Given the description of an element on the screen output the (x, y) to click on. 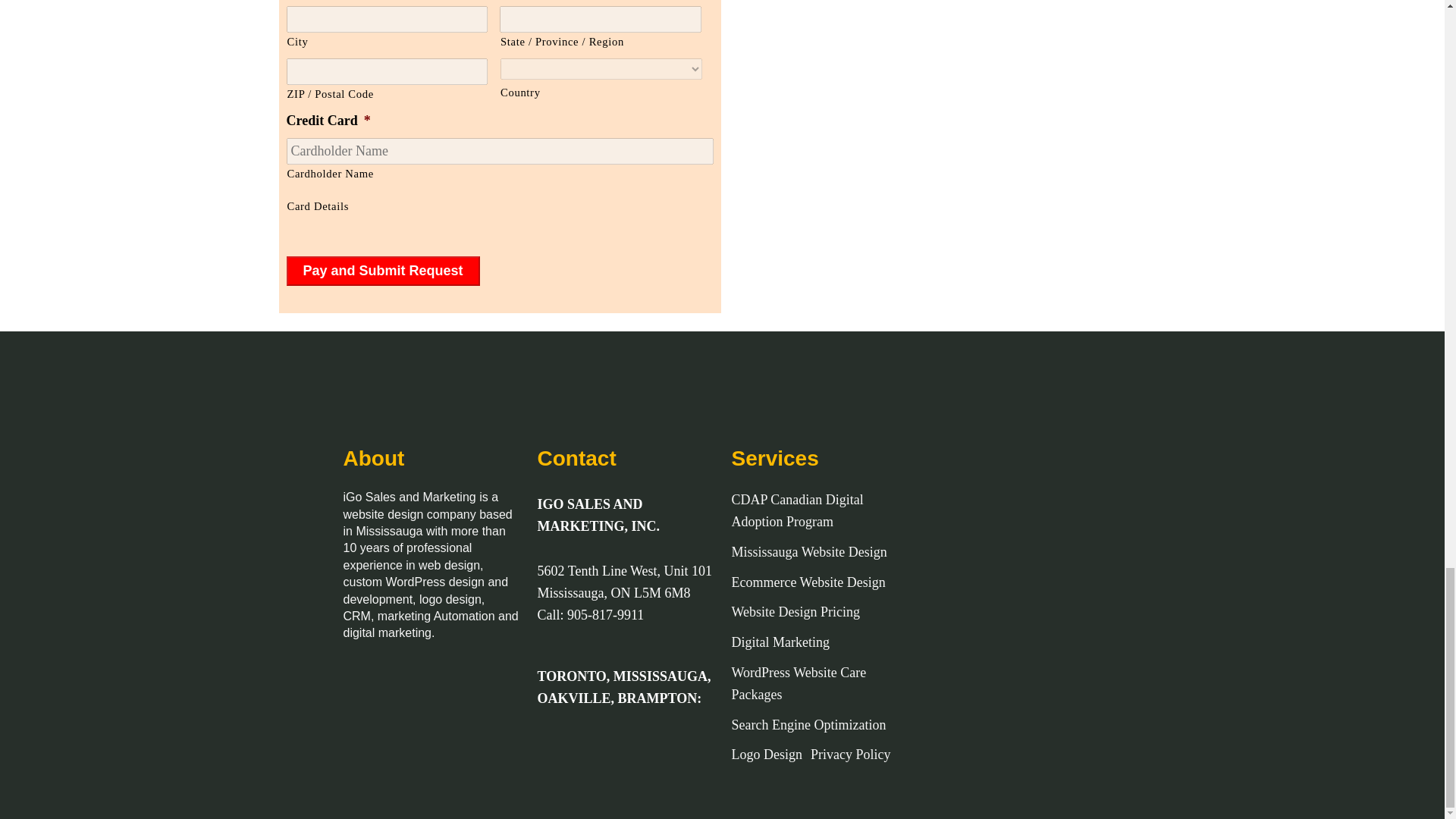
Highly Recommended by Locals On Alignable (418, 727)
Pay and Submit Request (383, 270)
